Given the description of an element on the screen output the (x, y) to click on. 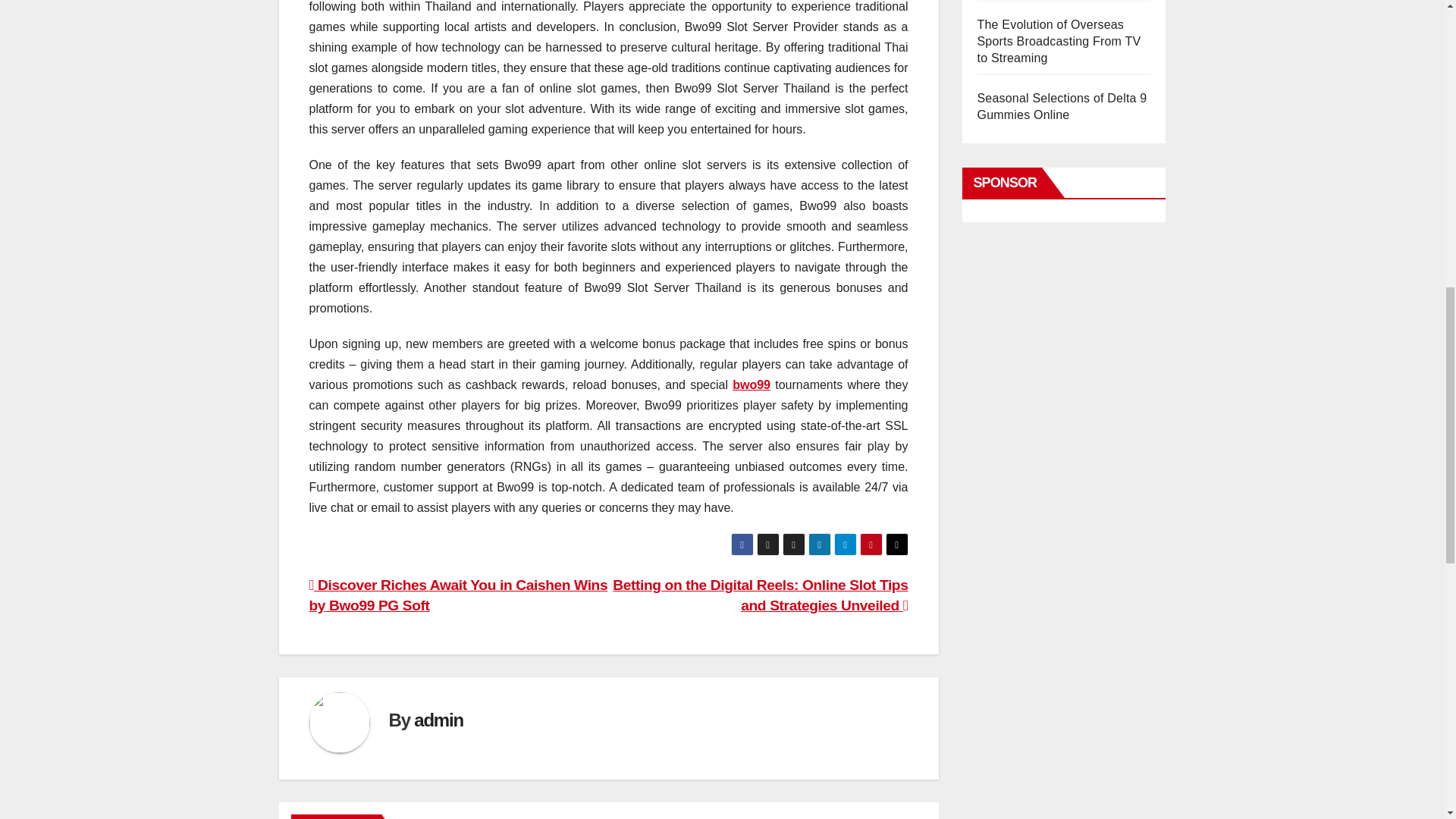
bwo99 (751, 384)
Discover Riches Await You in Caishen Wins by Bwo99 PG Soft (458, 595)
admin (438, 720)
